Given the description of an element on the screen output the (x, y) to click on. 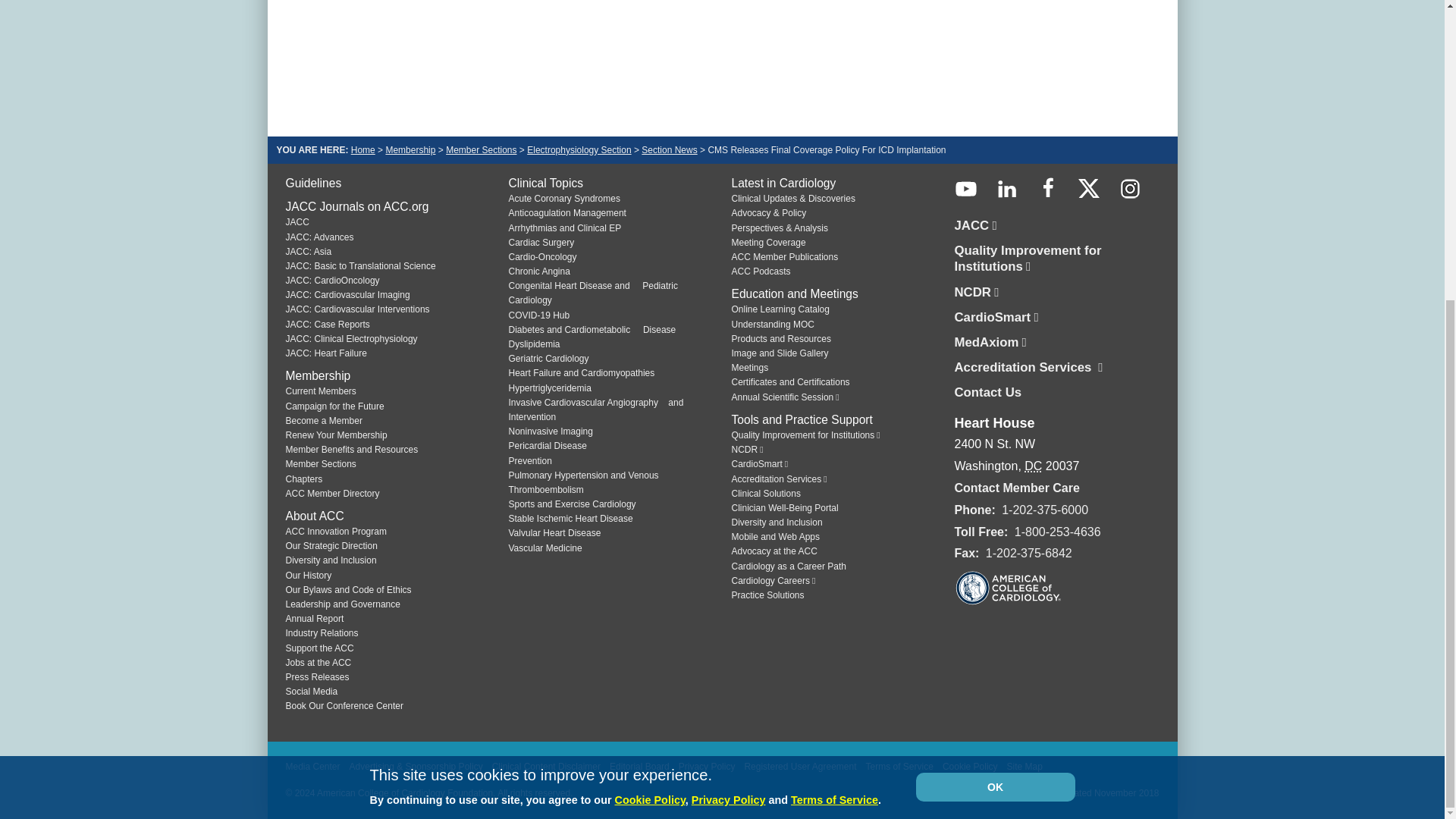
JACC: Cardiovascular Imaging (347, 294)
JACC: Advances (319, 236)
JACC Asia (308, 251)
JACC: Cardiovascular Interventions (357, 308)
Guidelines (312, 182)
